Given the description of an element on the screen output the (x, y) to click on. 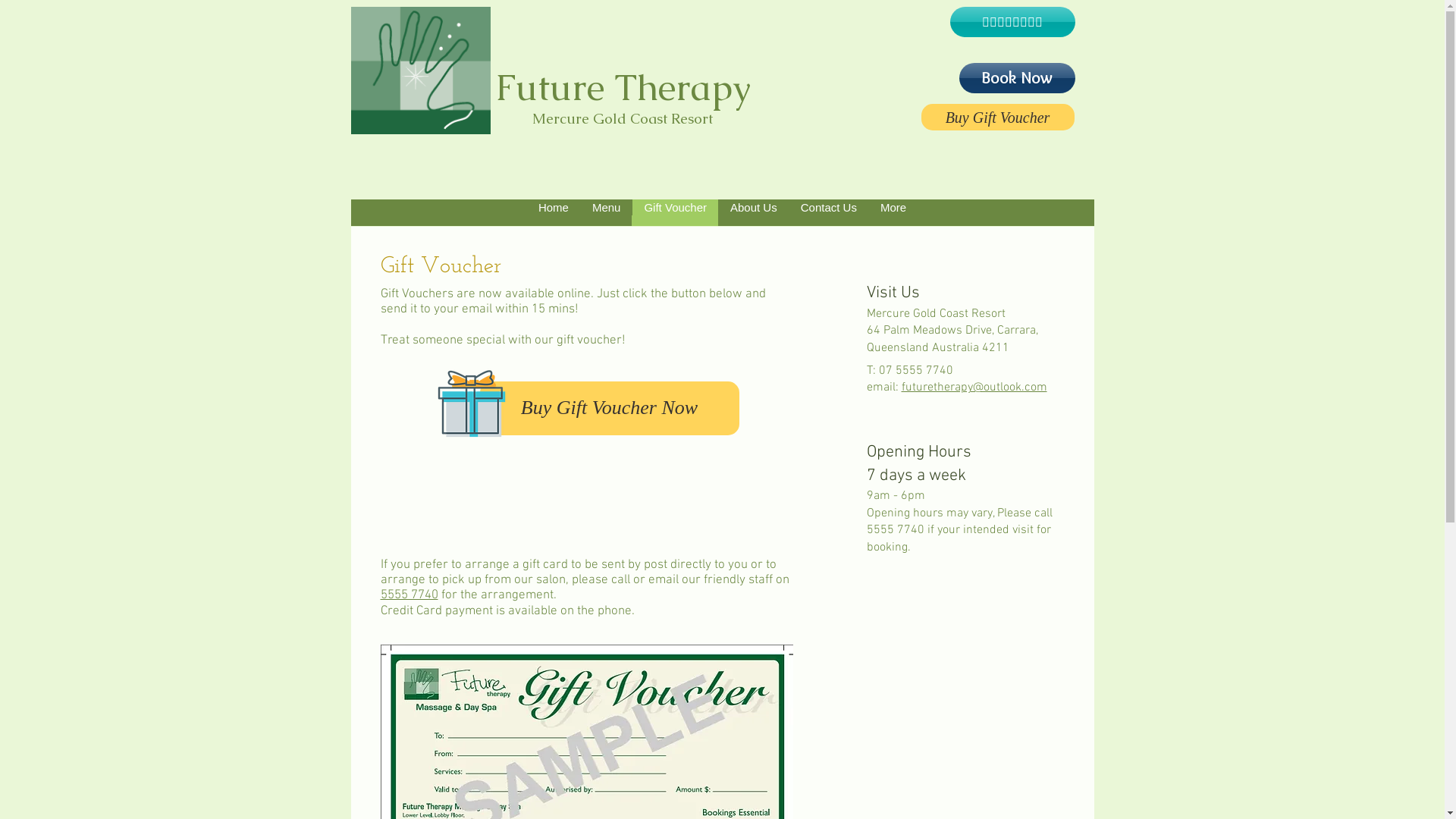
Buy Gift Voucher Element type: text (996, 116)
5555 7740 Element type: text (409, 594)
Buy Gift Voucher Now Element type: text (608, 408)
Contact Us Element type: text (828, 212)
Mercure Gold Coast Resort Element type: text (935, 313)
Gift Voucher Element type: text (674, 212)
Home Element type: text (553, 212)
Future Therapy Element type: text (621, 90)
64 Palm Meadows Drive, Carrara, Element type: text (951, 330)
07 5555 7740 Element type: text (915, 370)
Queensland Australia 4211 Element type: text (937, 347)
futuretherapy@outlook.com Element type: text (973, 387)
Book Now Element type: text (1016, 77)
About Us Element type: text (753, 212)
